Given the description of an element on the screen output the (x, y) to click on. 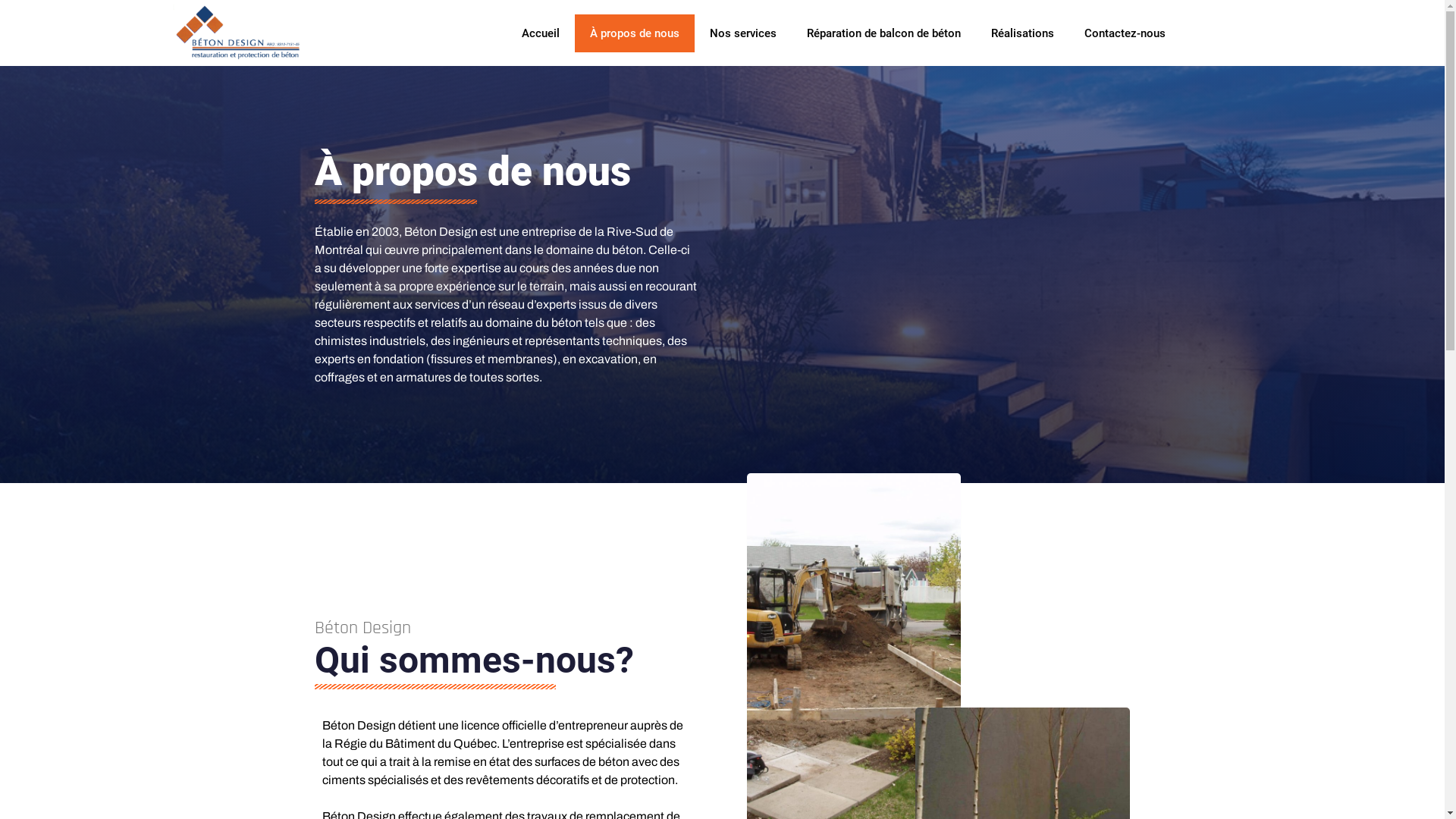
Nos services Element type: text (742, 33)
Accueil Element type: text (540, 33)
Contactez-nous Element type: text (1124, 33)
